Given the description of an element on the screen output the (x, y) to click on. 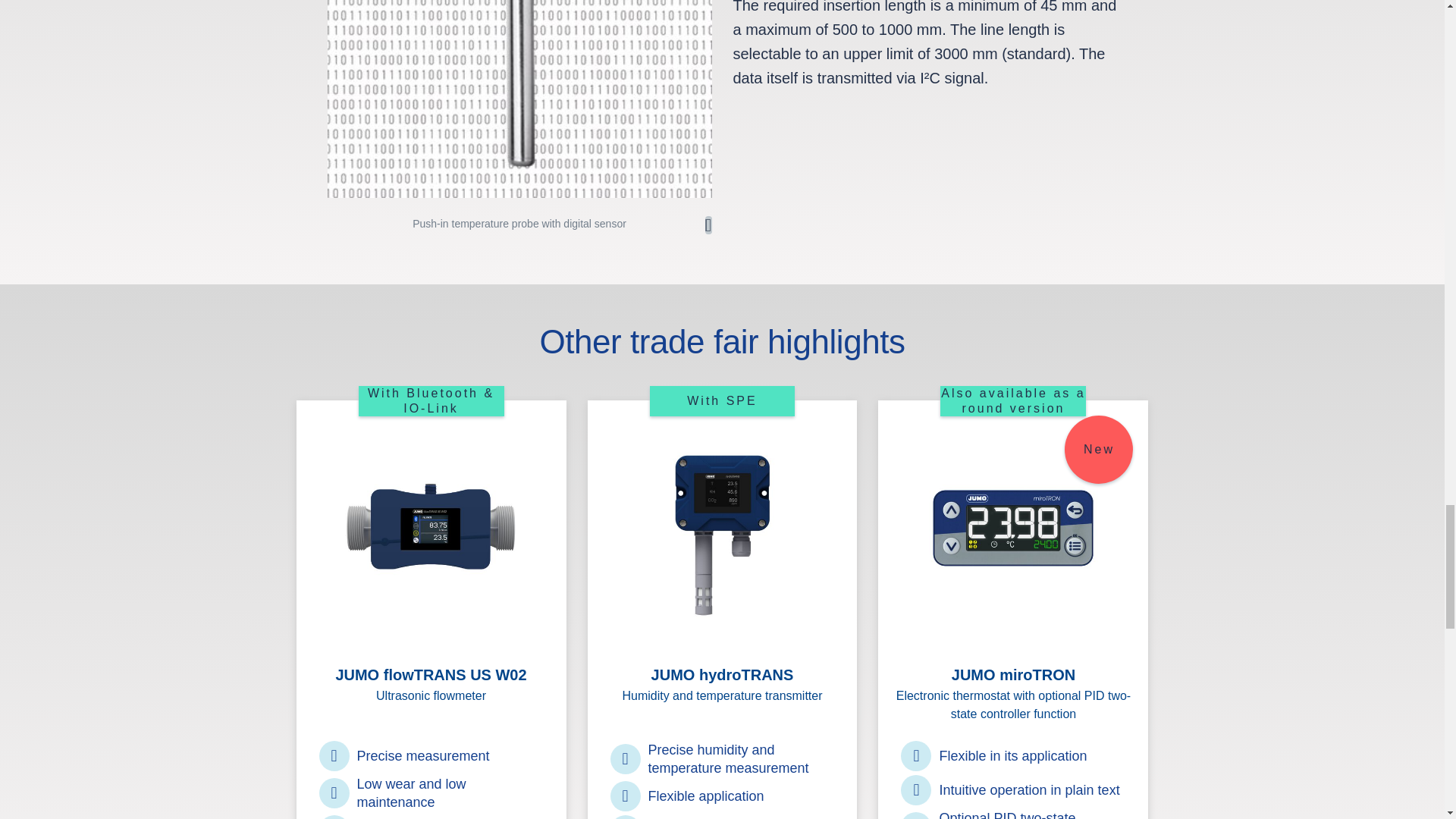
JUMO hydroTRANS (721, 535)
JUMO flowTRANS US W02 (430, 535)
Push-in temperature probe with digital sensor (519, 99)
JUMO miroTRON (1013, 535)
